Given the description of an element on the screen output the (x, y) to click on. 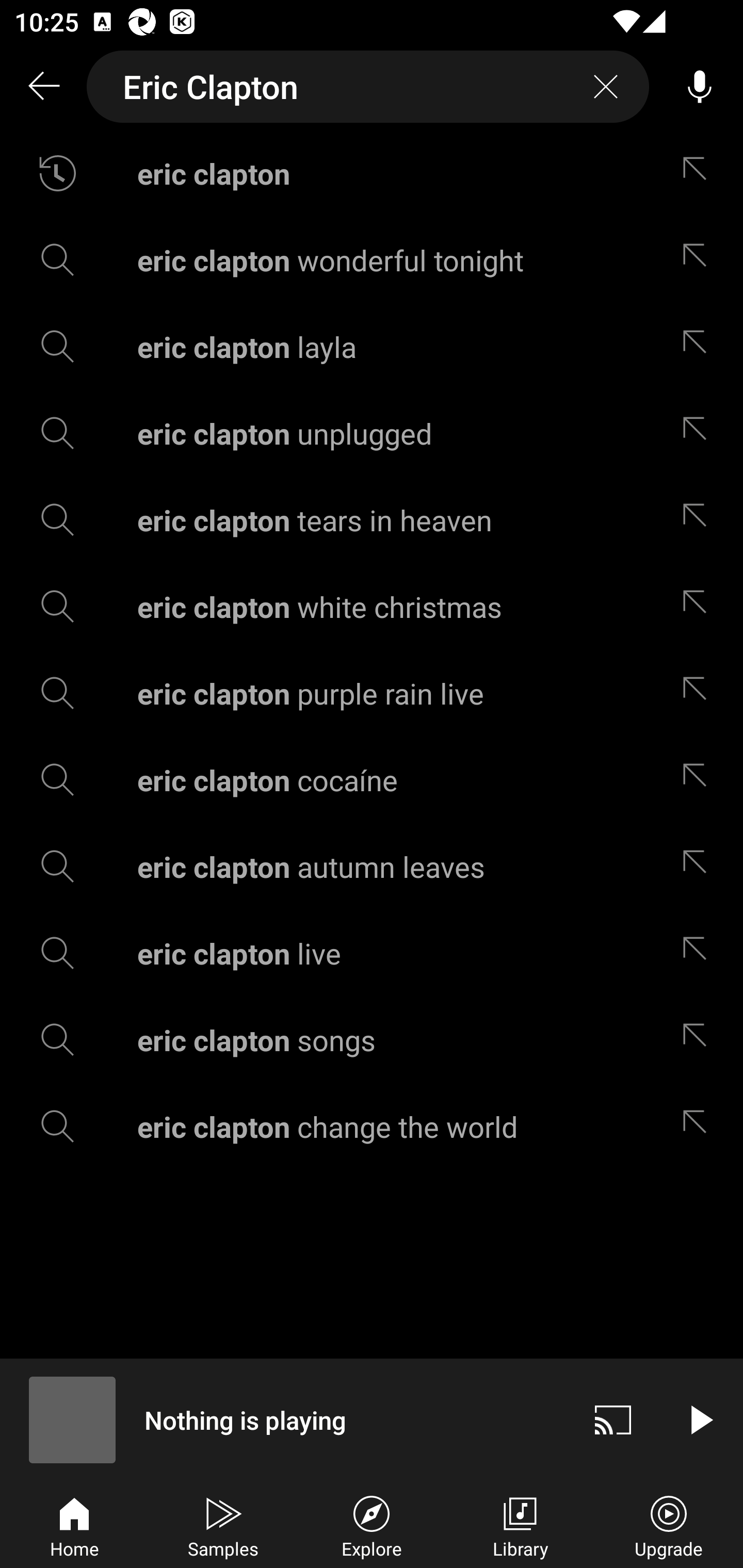
Search back (43, 86)
Eric Clapton (367, 86)
Clear search (605, 86)
Voice search (699, 86)
eric clapton Edit suggestion eric clapton (371, 173)
Edit suggestion eric clapton (699, 173)
Edit suggestion eric clapton wonderful tonight (699, 259)
Edit suggestion eric clapton layla (699, 346)
Edit suggestion eric clapton unplugged (699, 433)
Edit suggestion eric clapton tears in heaven (699, 519)
Edit suggestion eric clapton white christmas (699, 605)
Edit suggestion eric clapton purple rain live (699, 692)
Edit suggestion eric clapton cocaíne (699, 779)
Edit suggestion eric clapton autumn leaves (699, 866)
Edit suggestion eric clapton live (699, 953)
Edit suggestion eric clapton songs (699, 1040)
Edit suggestion eric clapton change the world (699, 1126)
Nothing is playing (284, 1419)
Cast. Disconnected (612, 1419)
Play video (699, 1419)
Home (74, 1524)
Samples (222, 1524)
Explore (371, 1524)
Library (519, 1524)
Upgrade (668, 1524)
